Given the description of an element on the screen output the (x, y) to click on. 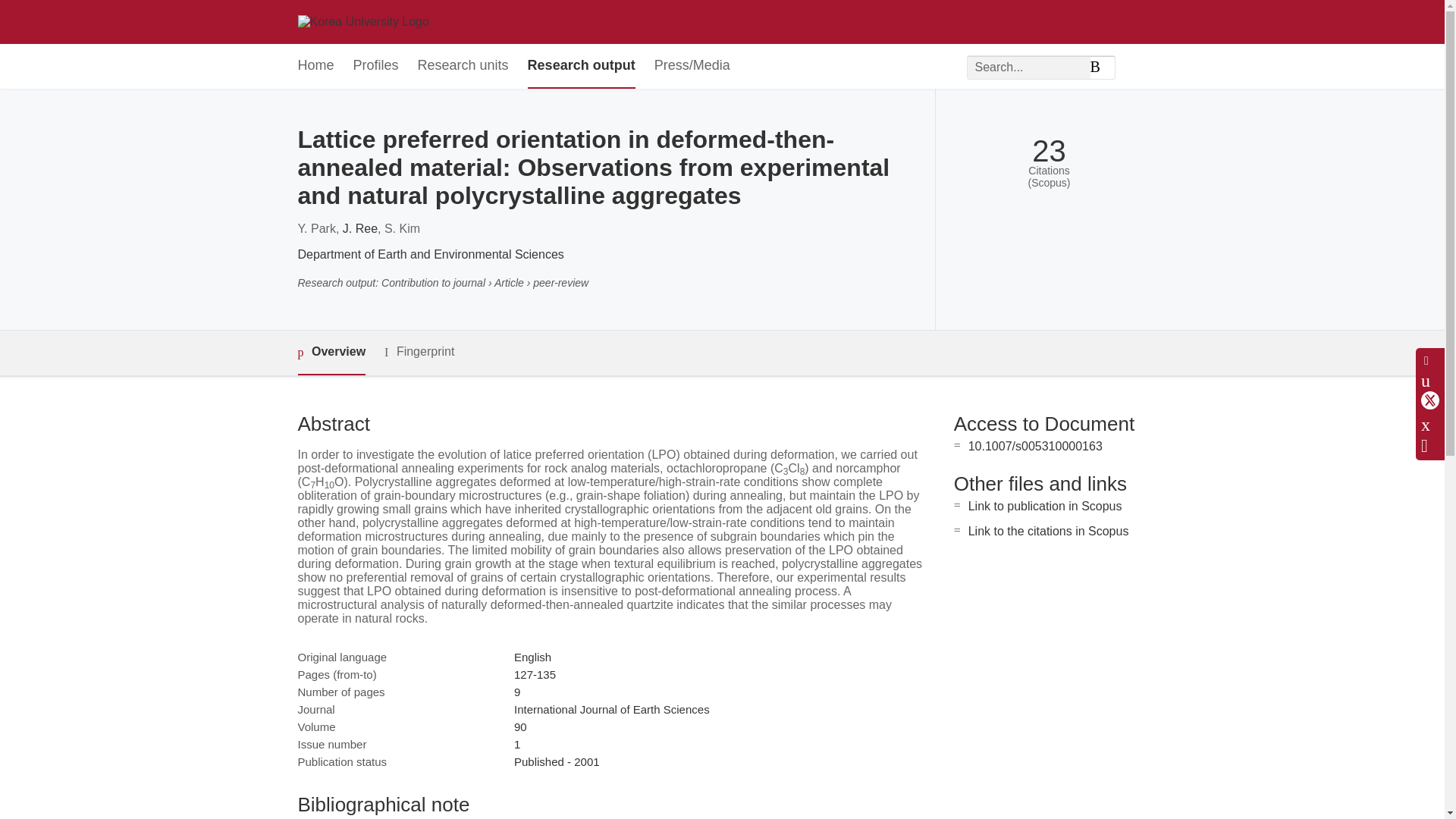
Overview (331, 352)
Link to the citations in Scopus (1048, 530)
Research output (580, 66)
J. Ree (359, 228)
Profiles (375, 66)
Link to publication in Scopus (1045, 505)
Research units (462, 66)
Korea University Home (362, 21)
23 (1048, 151)
Department of Earth and Environmental Sciences (430, 254)
International Journal of Earth Sciences (611, 708)
Fingerprint (419, 351)
